Given the description of an element on the screen output the (x, y) to click on. 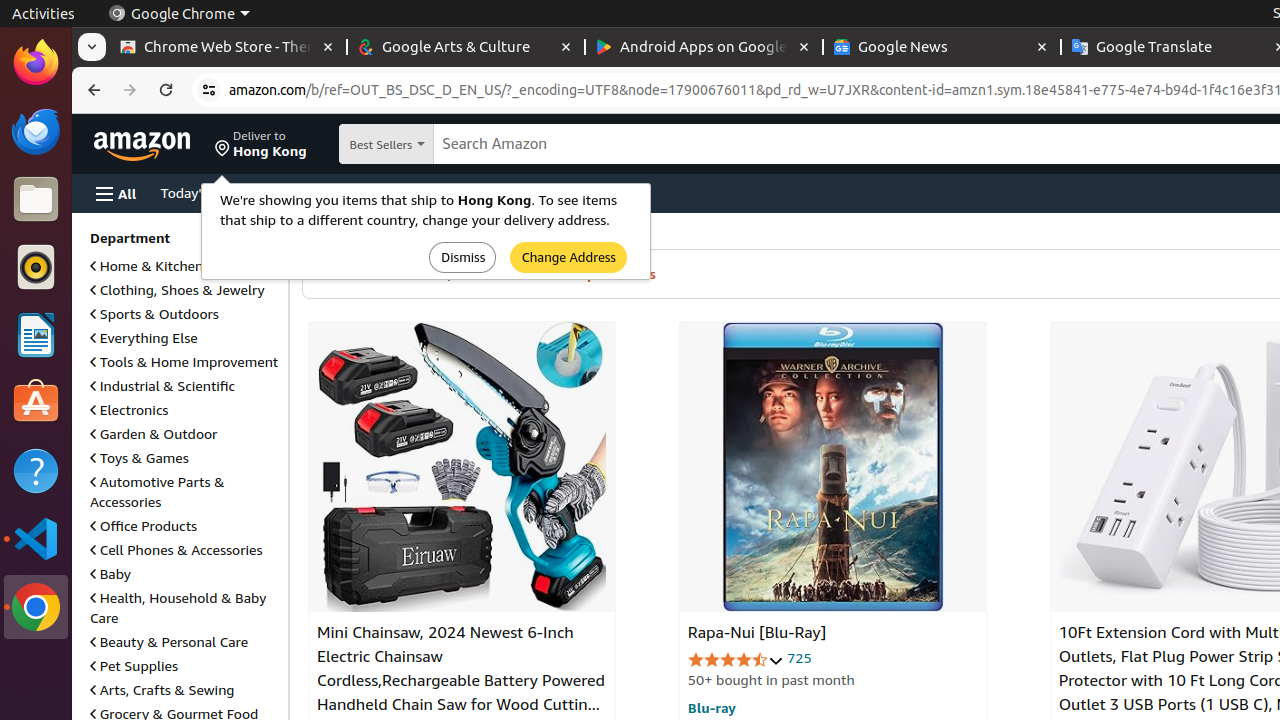
Garden & Outdoor Element type: link (154, 433)
Registry Element type: link (429, 192)
Toys & Games Element type: link (139, 457)
Android Apps on Google Play - Memory usage - 60.6 MB Element type: page-tab (704, 47)
Pet Supplies Element type: link (134, 665)
